Given the description of an element on the screen output the (x, y) to click on. 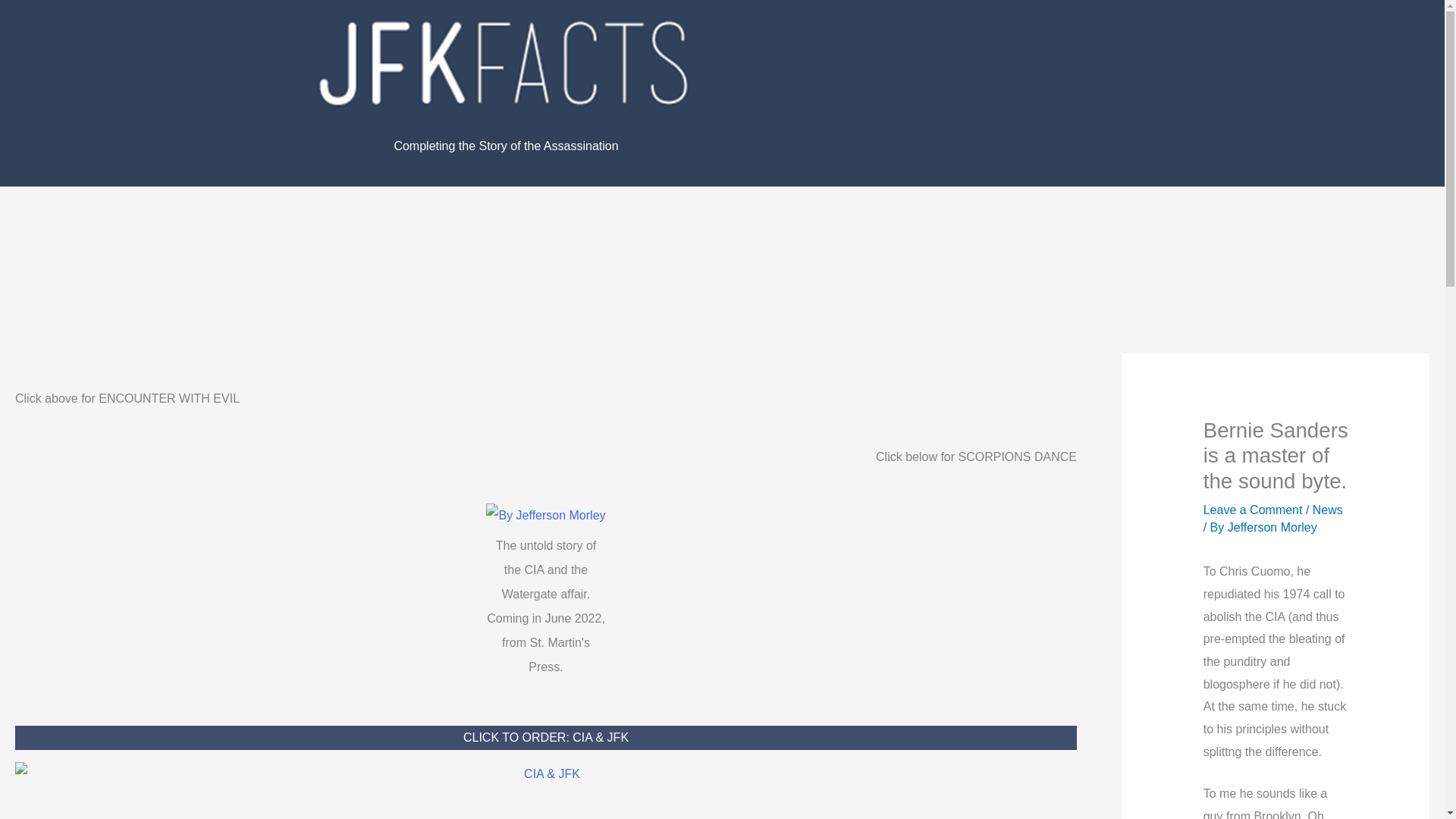
Completing the Story of the Assassination (505, 145)
News (1327, 509)
Book cover (545, 515)
Jefferson Morley (1272, 526)
View all posts by Jefferson Morley (1272, 526)
Leave a Comment (1253, 509)
